Given the description of an element on the screen output the (x, y) to click on. 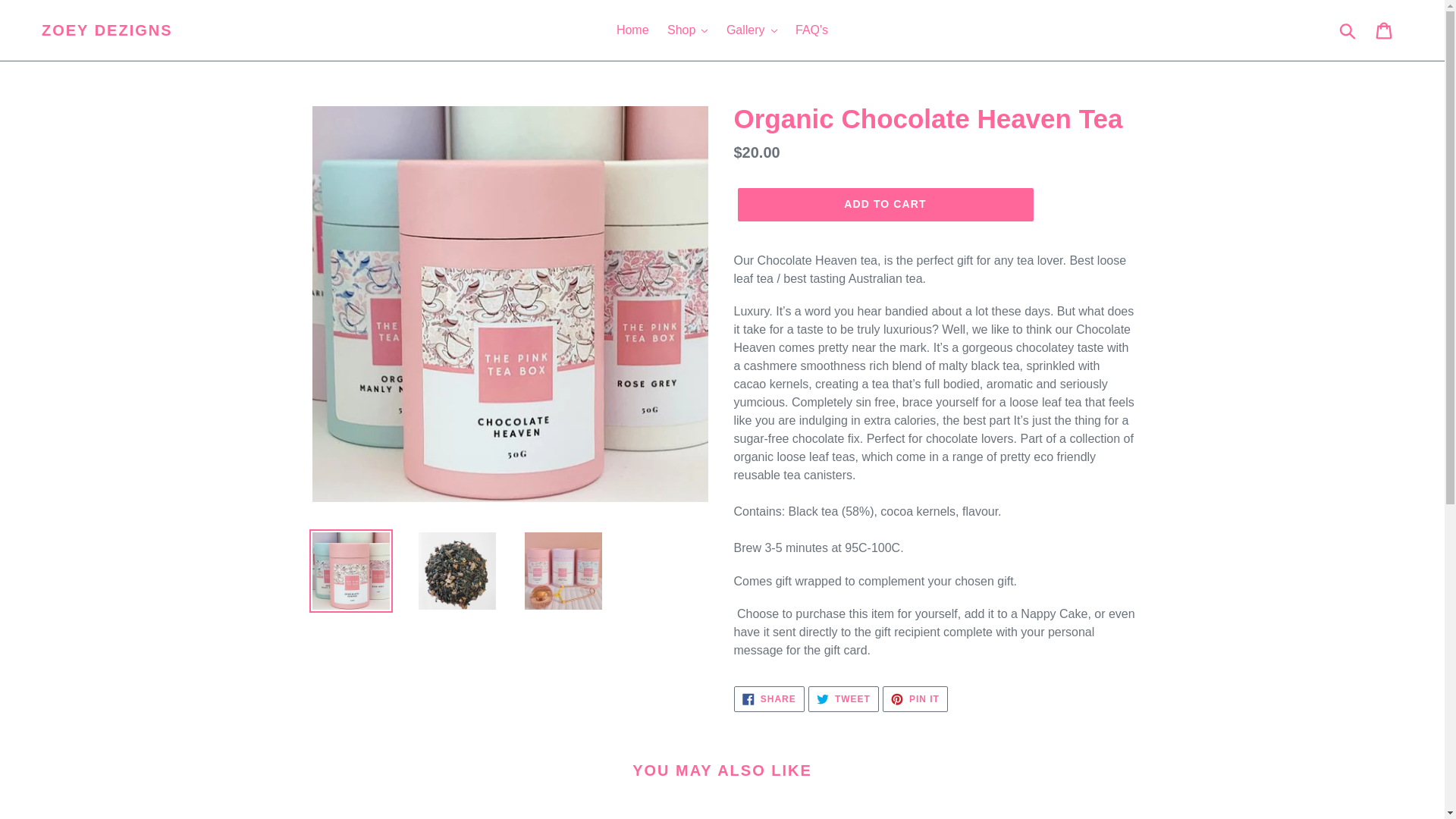
Submit (1348, 29)
ZOEY DEZIGNS (107, 30)
FAQ's (811, 29)
Cart (1385, 29)
Home (632, 29)
